Given the description of an element on the screen output the (x, y) to click on. 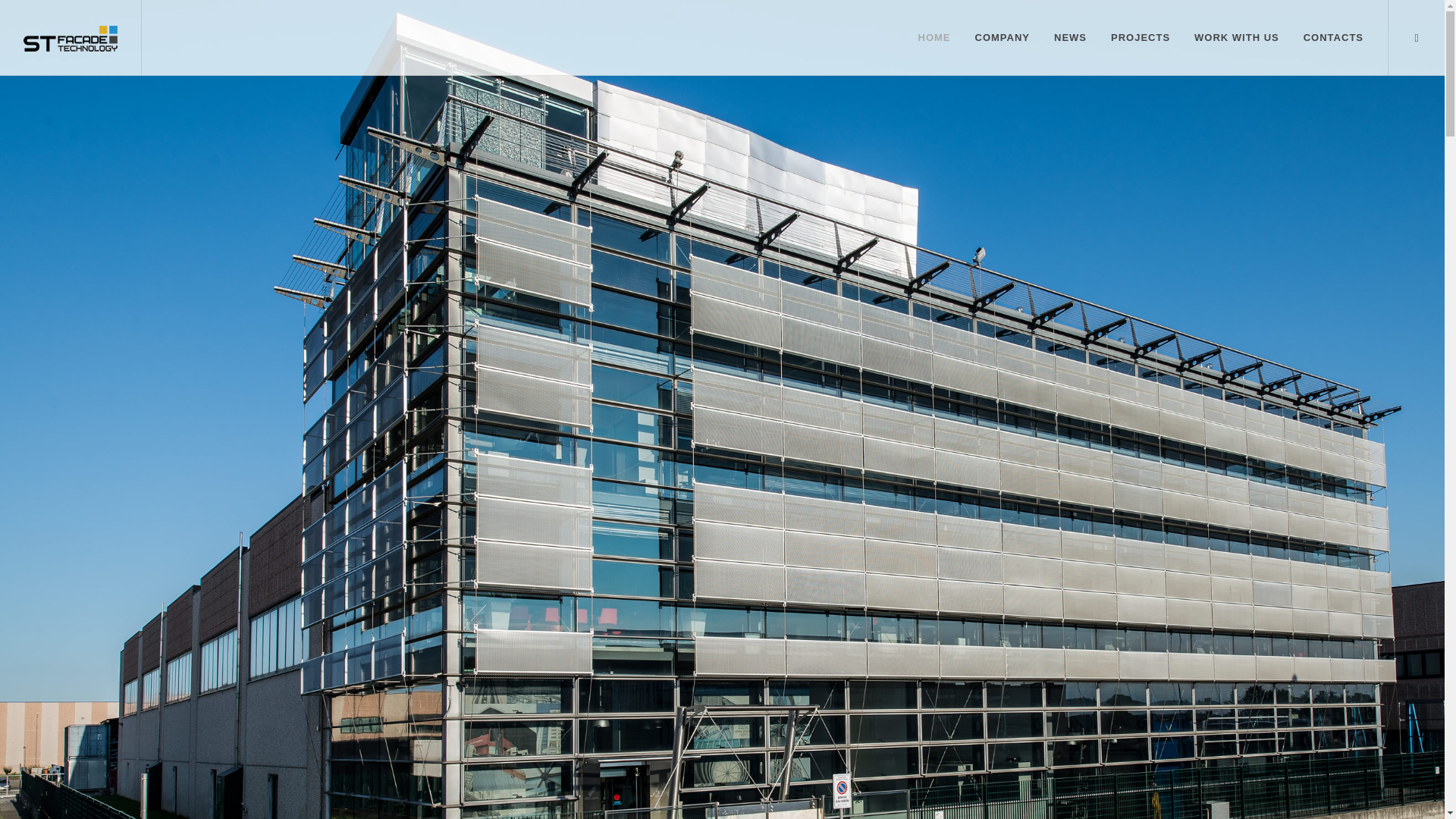
COMPANY (1002, 38)
CONTACTS (1333, 38)
PROJECTS (1139, 38)
WORK WITH US (1236, 38)
